Given the description of an element on the screen output the (x, y) to click on. 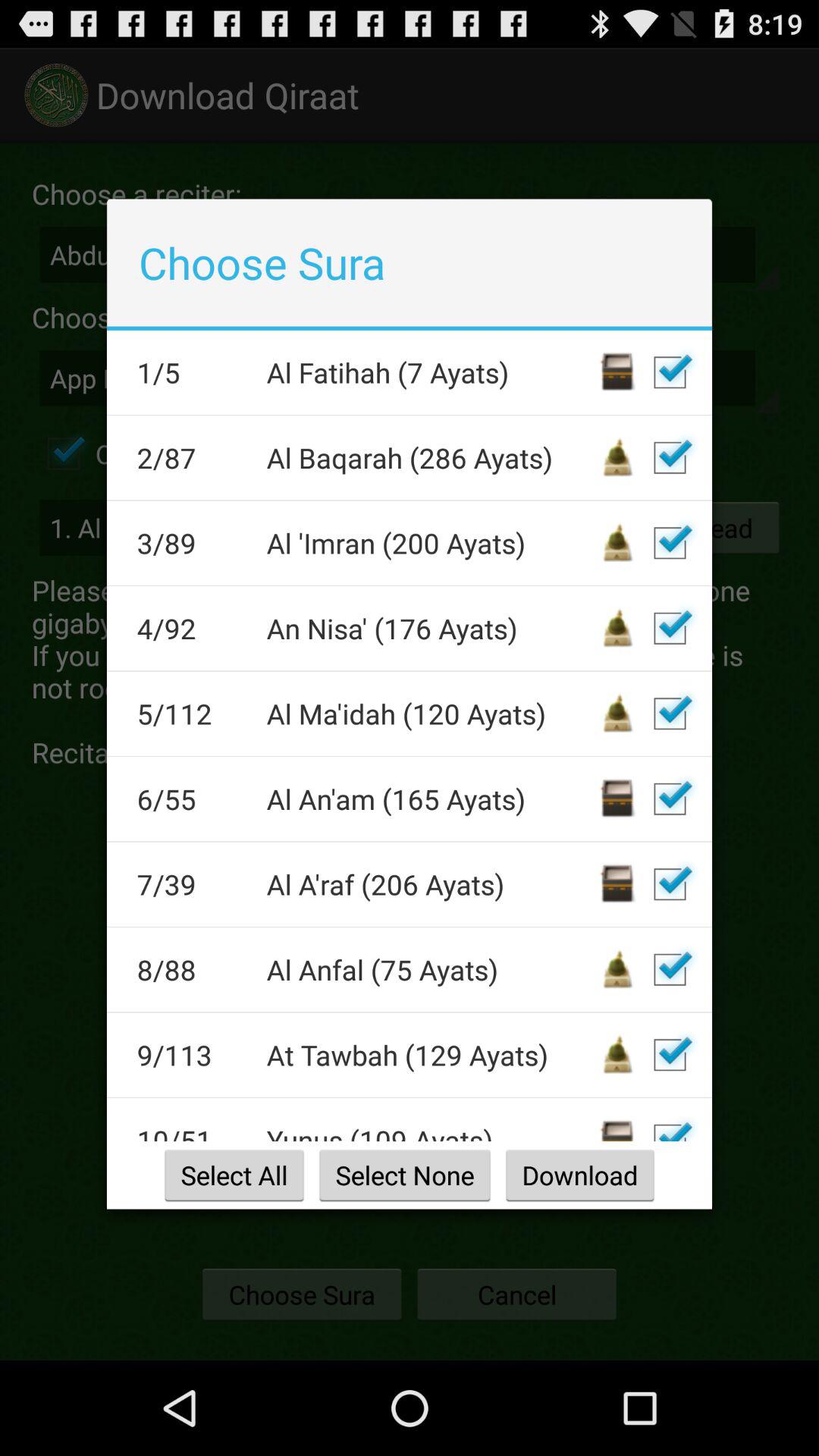
choose select none button (404, 1175)
